Given the description of an element on the screen output the (x, y) to click on. 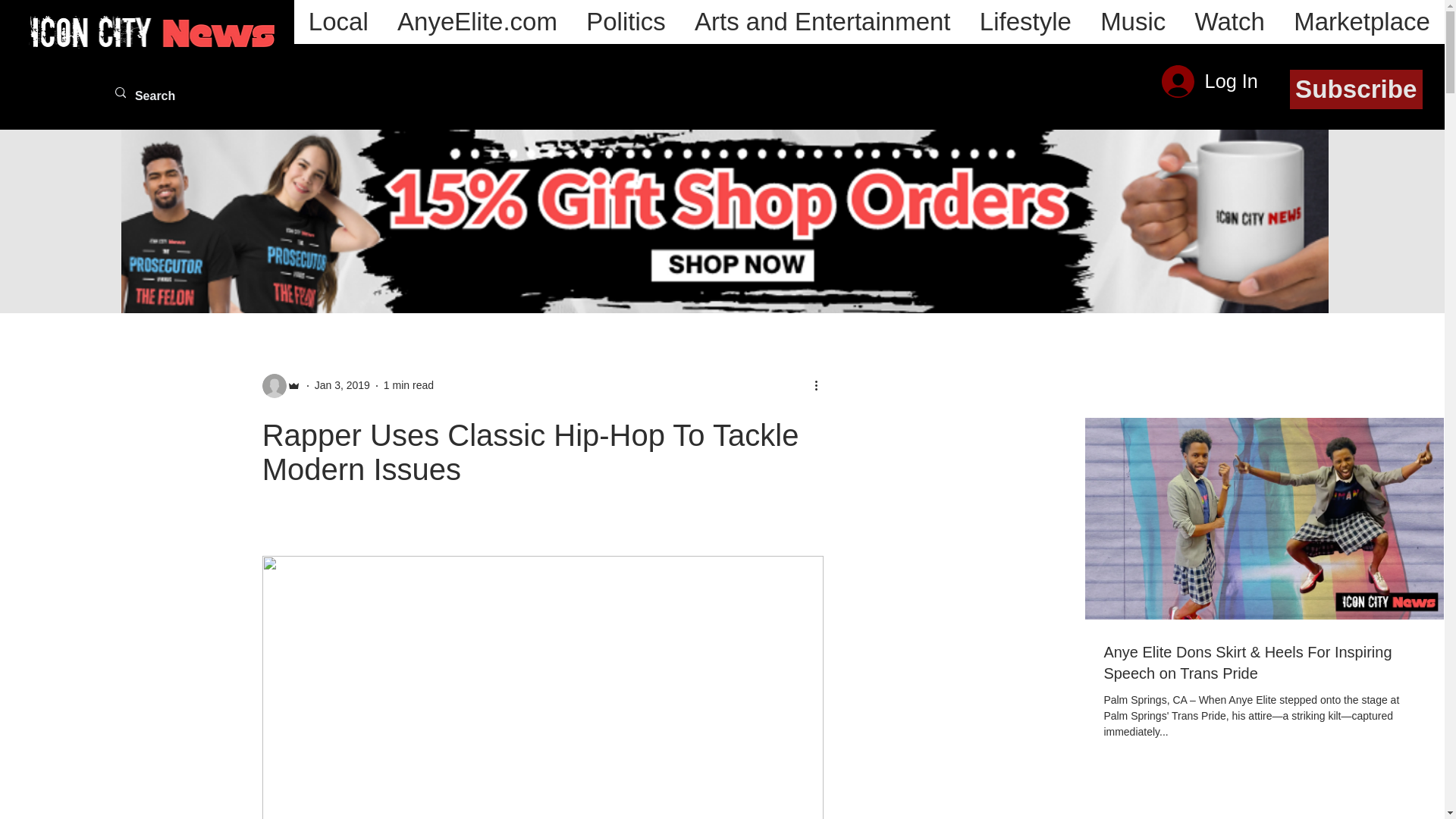
Lifestyle (1025, 22)
Watch (1229, 22)
Subscribe (1356, 88)
Jan 3, 2019 (341, 385)
Music (1132, 22)
Politics (625, 22)
1 min read (408, 385)
Arts and Entertainment (822, 22)
AnyeElite.com (477, 22)
Log In (1209, 81)
